Given the description of an element on the screen output the (x, y) to click on. 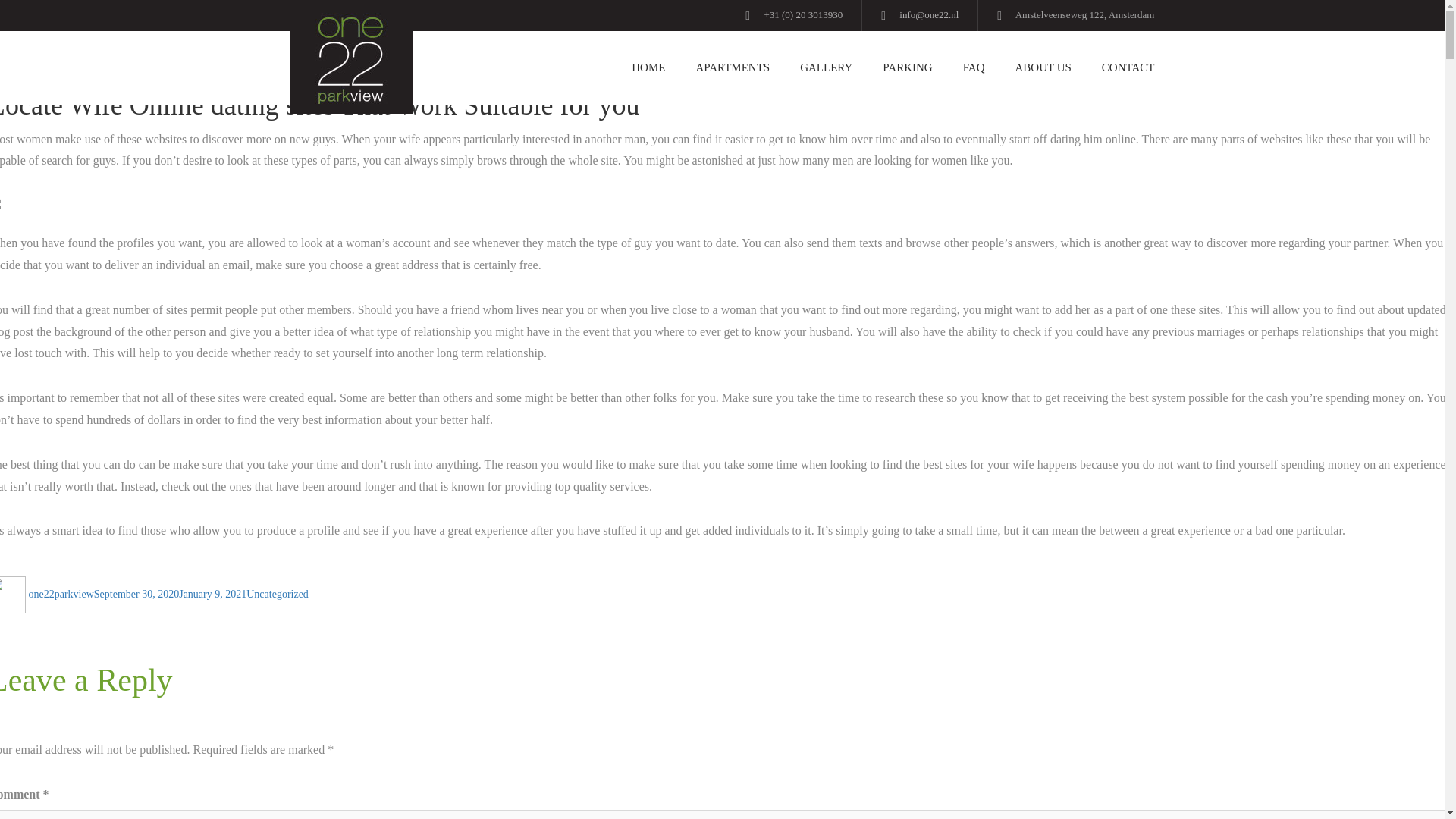
GALLERY (825, 67)
CONTACT (1120, 67)
PARKING (907, 67)
one22parkview (61, 593)
September 30, 2020January 9, 2021 (170, 593)
ABOUT US (1043, 67)
APARTMENTS (731, 67)
Uncategorized (277, 593)
